Given the description of an element on the screen output the (x, y) to click on. 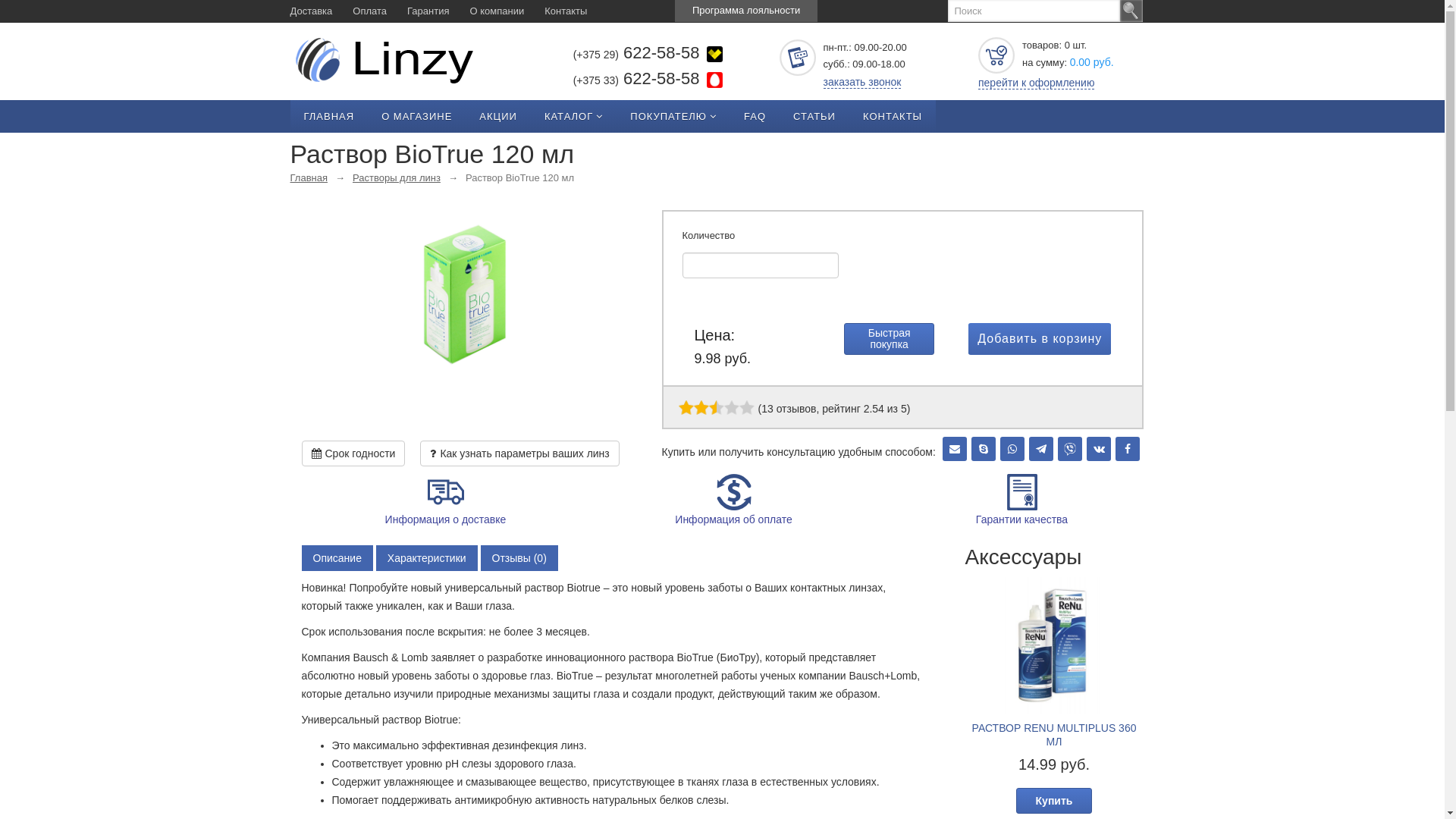
1 Element type: text (685, 407)
Viber Element type: hover (1069, 448)
(+375 29) 622-58-58 Element type: text (611, 53)
3 Element type: text (700, 407)
Skype Element type: hover (983, 448)
Telegram Element type: hover (1041, 448)
5 Element type: text (715, 407)
(+375 33) 622-58-58 Element type: text (611, 79)
4 Element type: text (707, 407)
2 Element type: text (692, 407)
Whatsapp Element type: hover (1012, 448)
VK Element type: hover (1098, 448)
FAQ Element type: text (754, 115)
Facebook Element type: hover (1127, 448)
E-mail Element type: hover (954, 448)
